Given the description of an element on the screen output the (x, y) to click on. 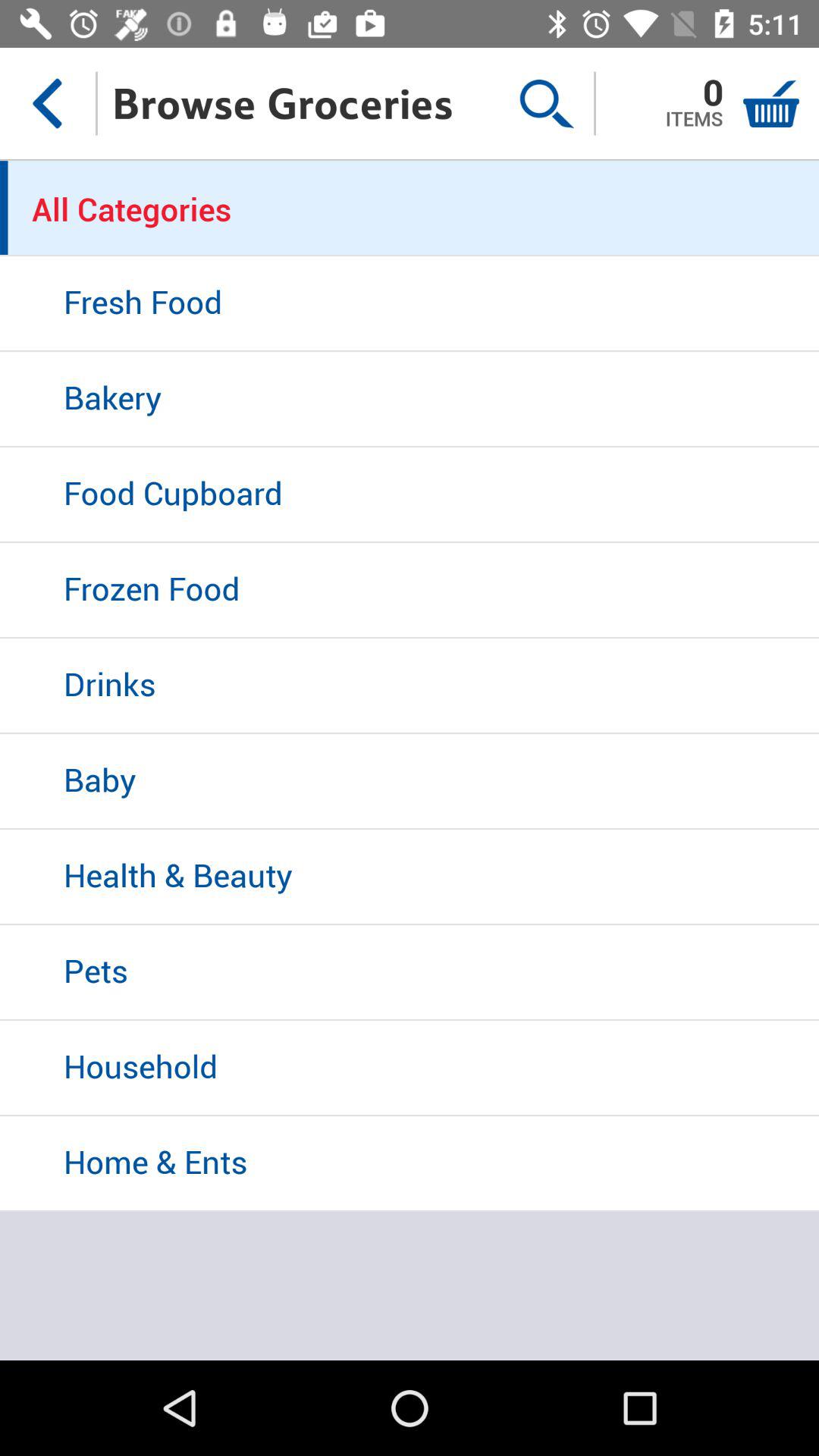
swipe to frozen food icon (409, 590)
